Given the description of an element on the screen output the (x, y) to click on. 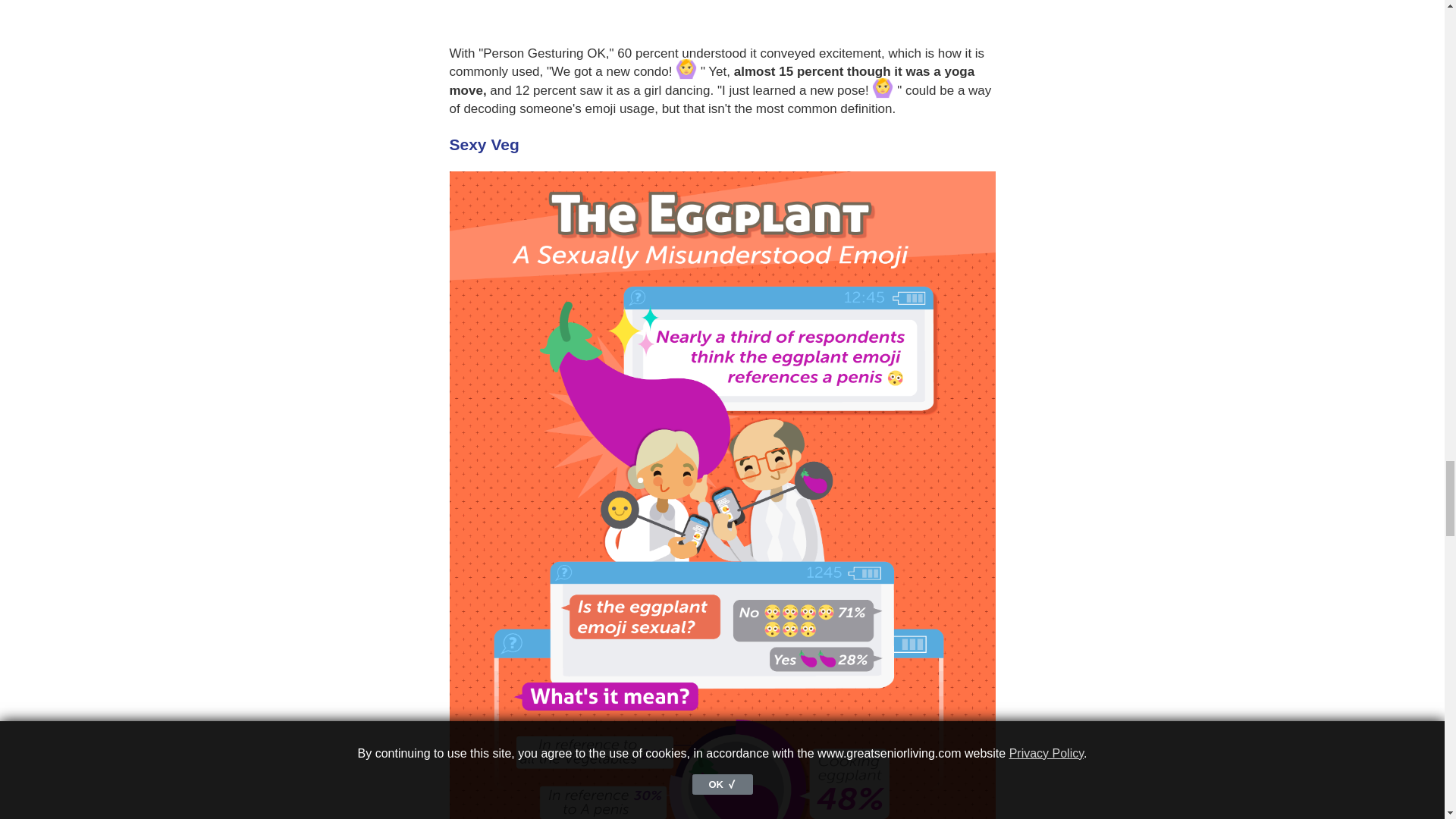
Deciphering Emojis - RDJ (721, 14)
